Given the description of an element on the screen output the (x, y) to click on. 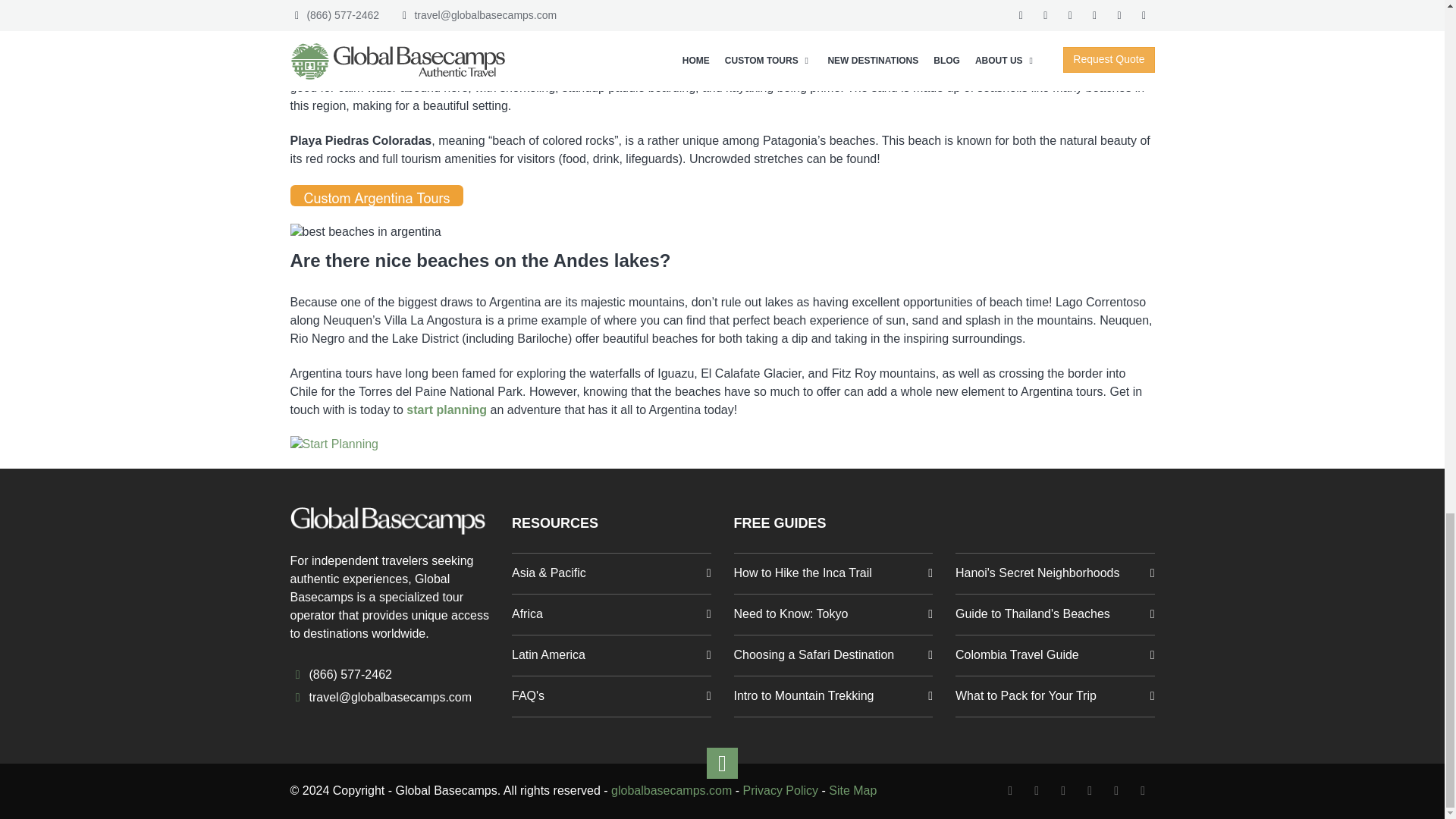
Need to Know: Tokyo (833, 614)
Traveler Guides, Tips, and Tricks for Latin America (611, 655)
Choosing a Safari Destination (833, 696)
Guide to Thailand's Beaches (1054, 614)
Colombia Travel Guide (1054, 655)
Twitter (1037, 789)
Traveler Guides, Tips, and Tricks for Africa (611, 614)
What to Pack for Your Trip (1054, 696)
Hanoi's Secret Neighborhoods (1054, 573)
How to Hike the Inca Trail (833, 573)
